Given the description of an element on the screen output the (x, y) to click on. 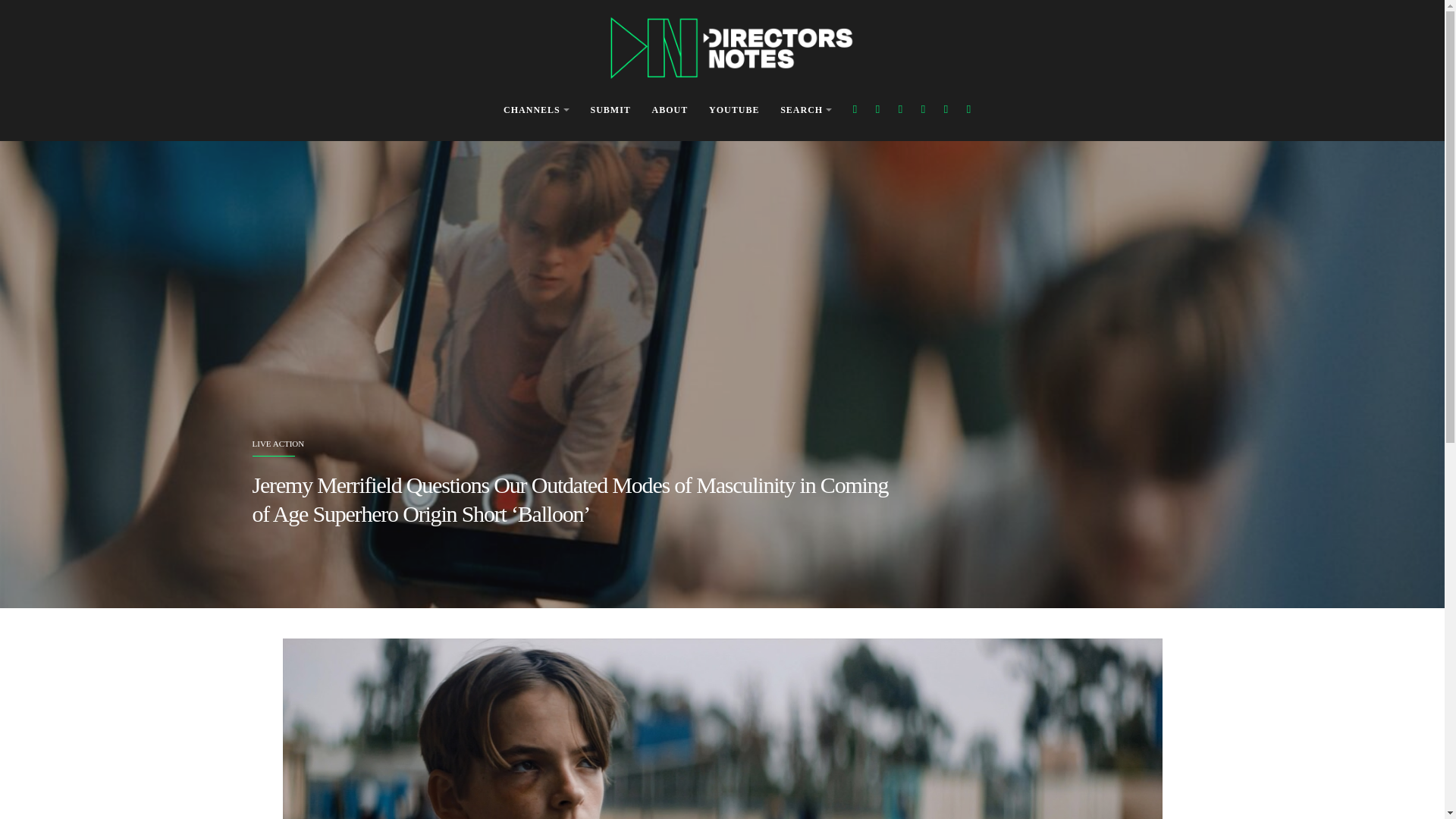
LIVE ACTION (277, 442)
Twitter (877, 110)
SEARCH (805, 110)
LinkedIn (968, 110)
ABOUT (670, 110)
SUBMIT (610, 110)
CHANNELS (536, 110)
You Tube (923, 110)
Vimeo (945, 110)
YOUTUBE (733, 110)
